Given the description of an element on the screen output the (x, y) to click on. 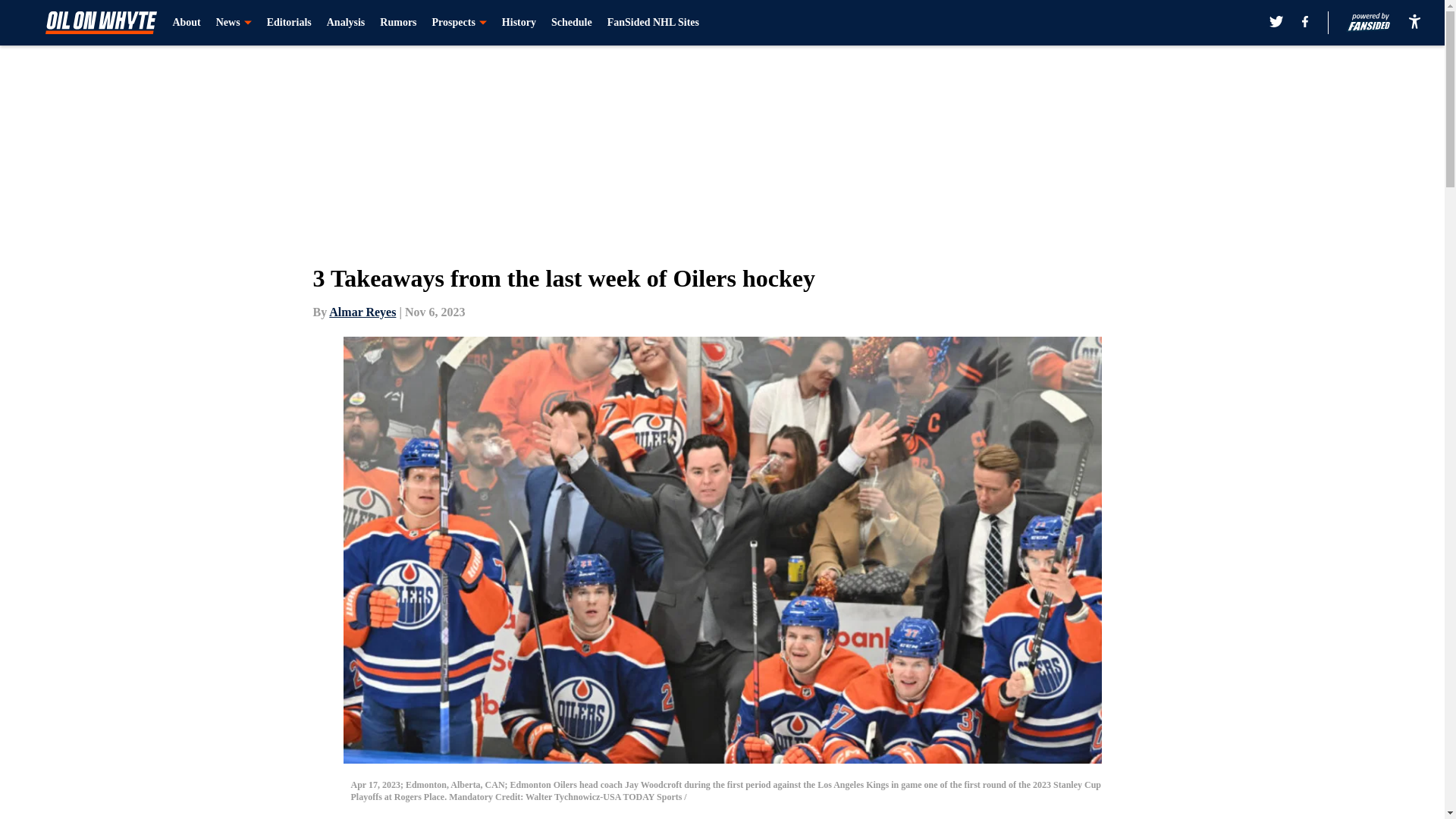
Rumors (398, 22)
Analysis (345, 22)
About (185, 22)
FanSided NHL Sites (652, 22)
Schedule (571, 22)
History (518, 22)
Almar Reyes (362, 311)
Editorials (288, 22)
